Given the description of an element on the screen output the (x, y) to click on. 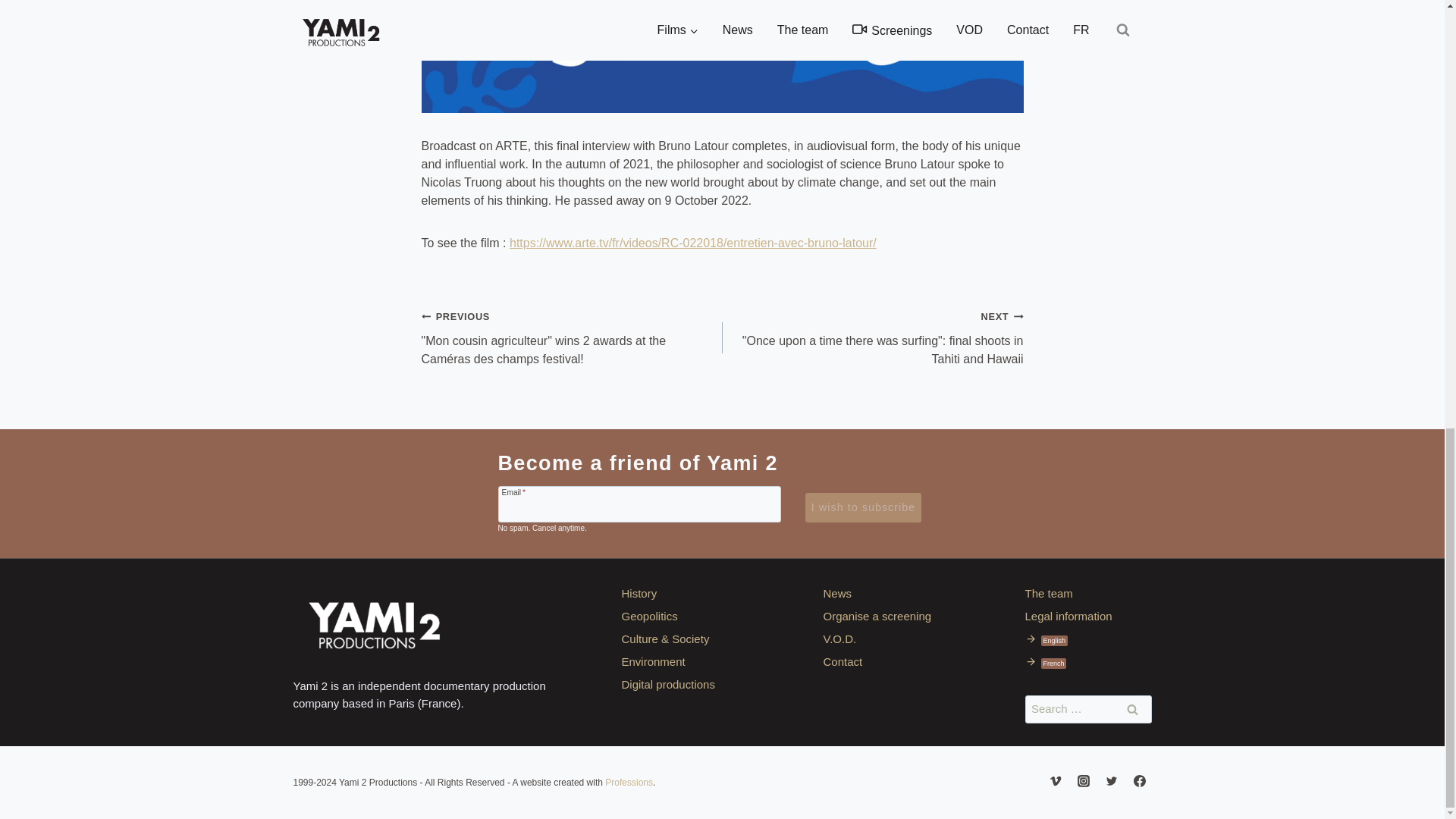
News (887, 592)
Legal information (1088, 615)
Environment (684, 661)
Geopolitics (684, 615)
Search (1132, 709)
Search (1132, 709)
V.O.D. (887, 638)
Contact (887, 661)
English (1088, 638)
Organise a screening (887, 615)
